Given the description of an element on the screen output the (x, y) to click on. 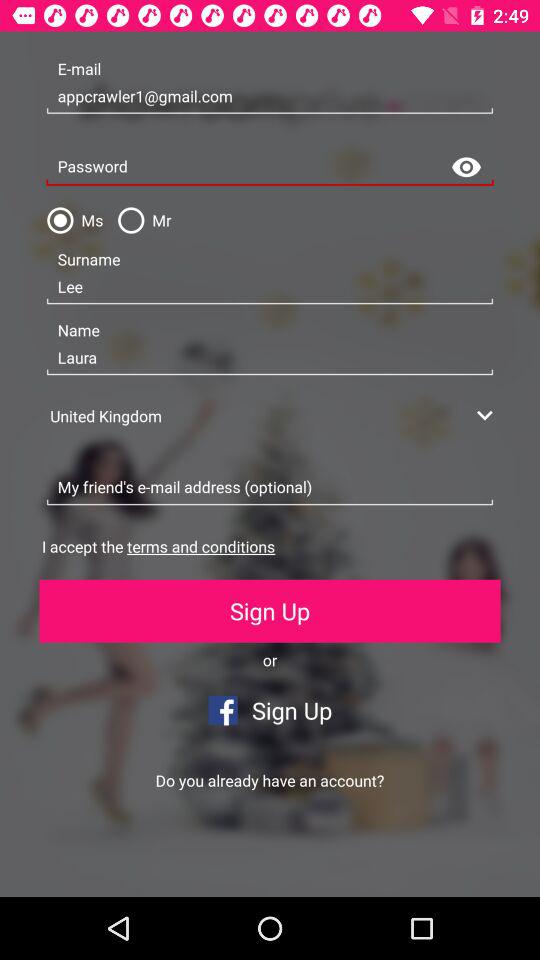
turn on the item to the right of ms icon (140, 220)
